Given the description of an element on the screen output the (x, y) to click on. 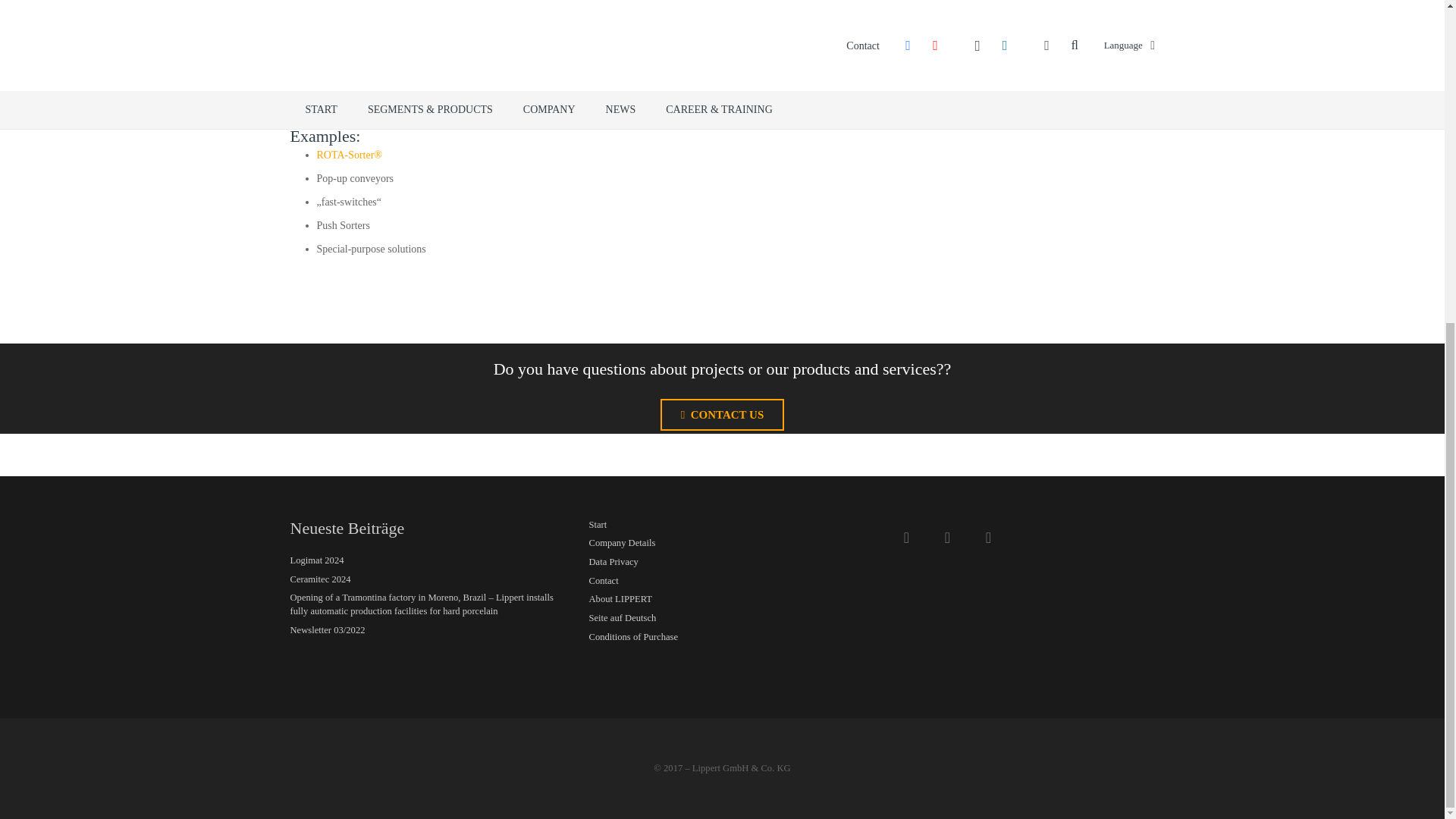
CONTACT US (722, 414)
Logimat 2024 (316, 560)
Start (597, 524)
Data Privacy (612, 561)
YouTube (988, 537)
Facebook (947, 537)
Company Details (621, 542)
Ceramitec 2024 (319, 579)
E-Mail (905, 537)
